Given the description of an element on the screen output the (x, y) to click on. 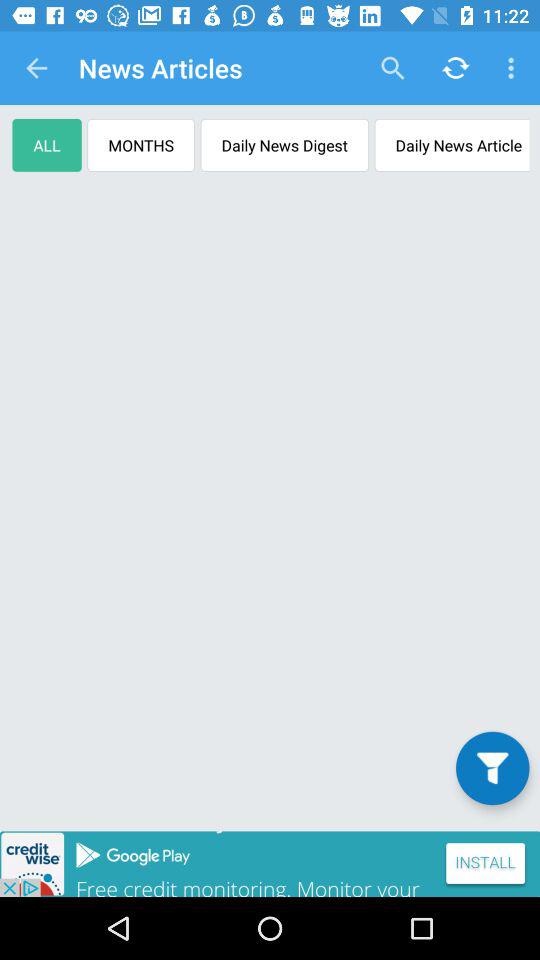
select advertisement (270, 864)
